Given the description of an element on the screen output the (x, y) to click on. 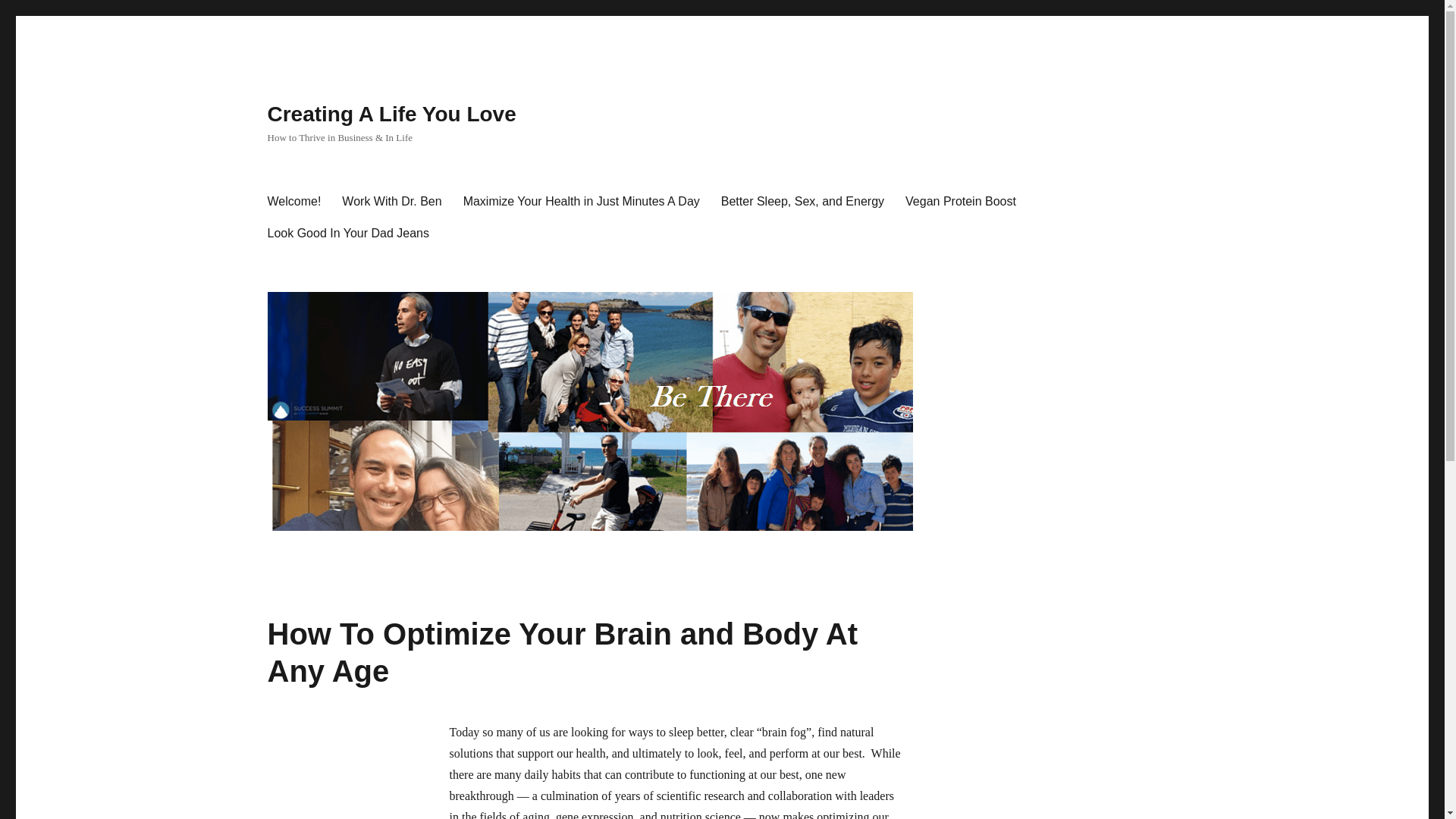
Look Good In Your Dad Jeans (347, 233)
Maximize Your Health in Just Minutes A Day (581, 201)
Vegan Protein Boost (960, 201)
Creating A Life You Love (390, 114)
Welcome! (293, 201)
Better Sleep, Sex, and Energy (802, 201)
Work With Dr. Ben (391, 201)
